Given the description of an element on the screen output the (x, y) to click on. 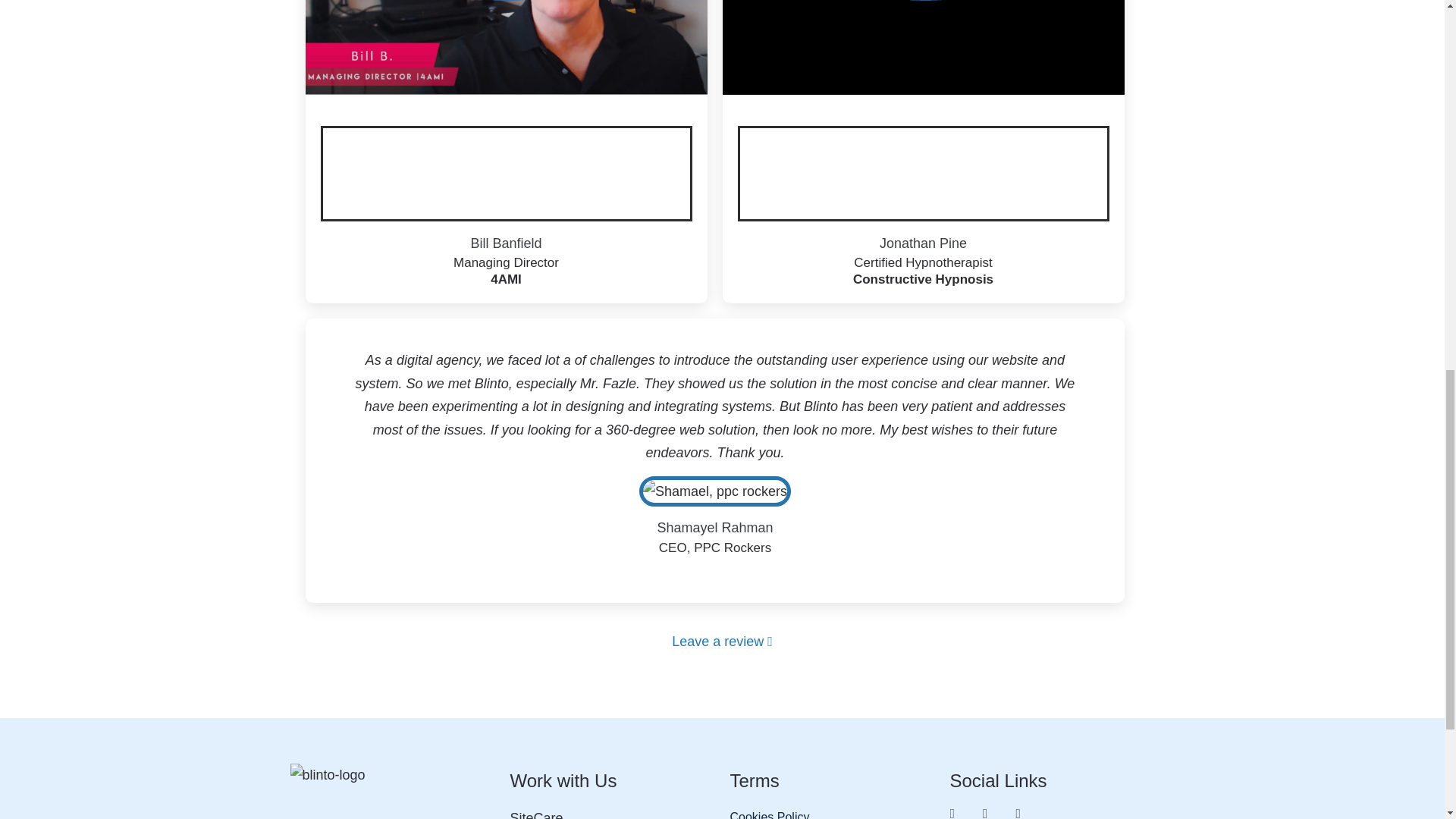
SiteCare (611, 812)
Leave a review (721, 641)
Cookies Policy (831, 812)
